Given the description of an element on the screen output the (x, y) to click on. 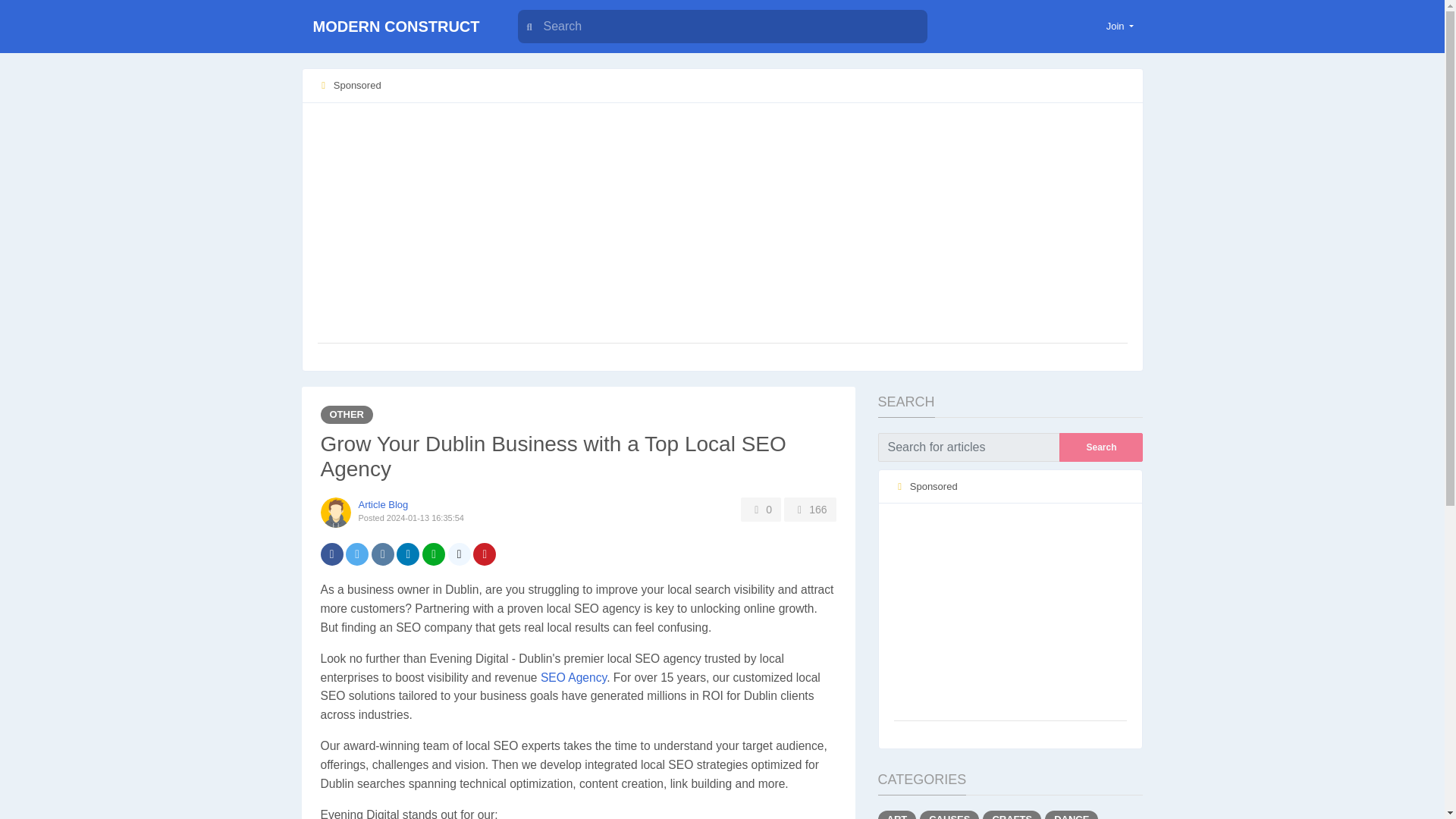
0 (760, 509)
CAUSES (949, 814)
Search (1100, 446)
DANCE (1071, 814)
Join (1119, 26)
Article Blog (382, 504)
MODERN CONSTRUCTIONS (396, 53)
Advertisement (1009, 613)
CRAFTS (1011, 814)
SEO Agency (573, 676)
